Given the description of an element on the screen output the (x, y) to click on. 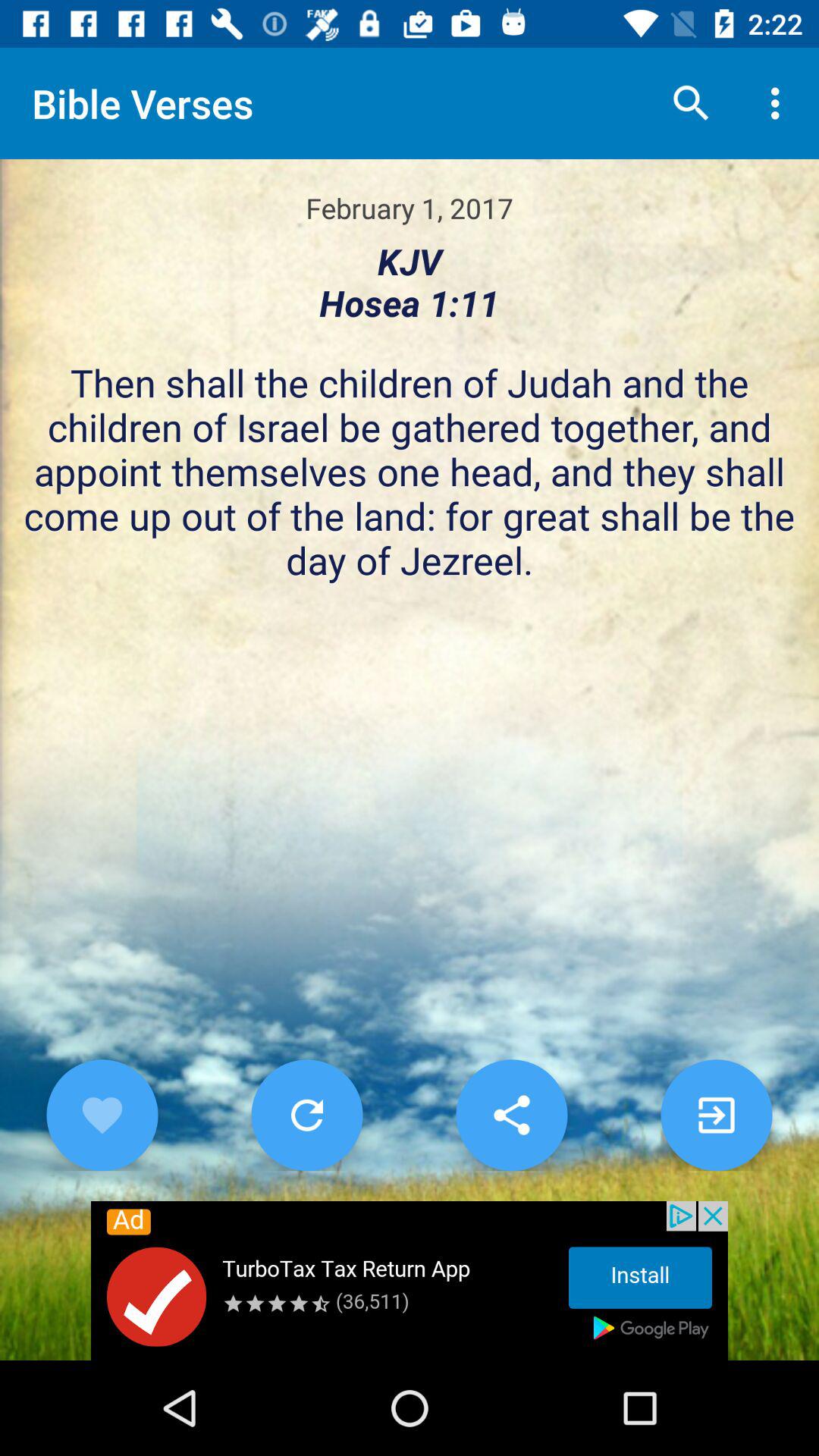
add post (716, 1115)
